Given the description of an element on the screen output the (x, y) to click on. 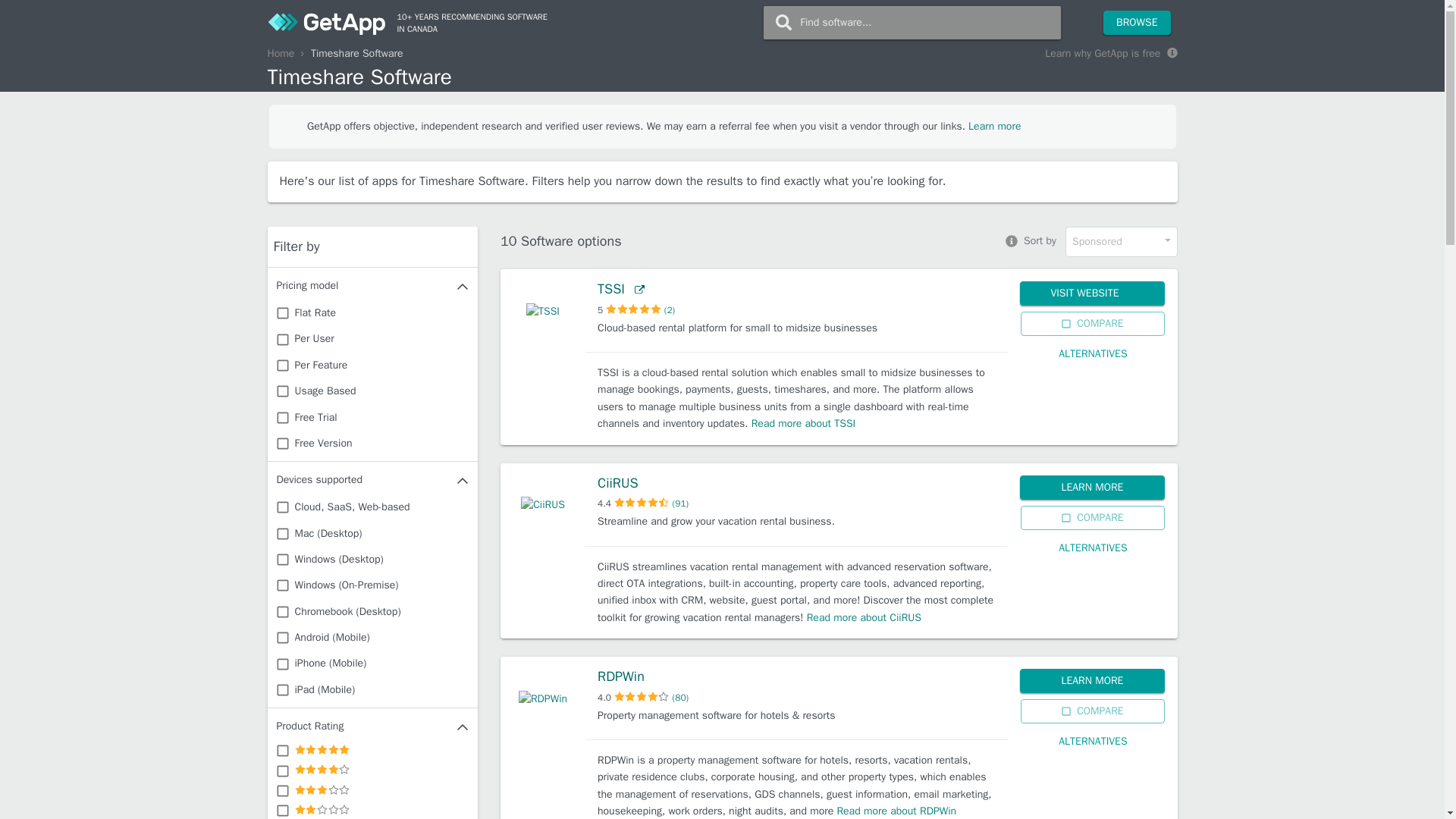
Learn why GetApp is free (1110, 54)
BROWSE (1136, 22)
Learn more (994, 125)
GetApp (326, 22)
Cloud, SaaS, Web-based (372, 506)
Usage Based (372, 391)
Free Version (372, 443)
Per Feature (372, 365)
Flat Rate (372, 312)
Per User (372, 338)
Home (280, 52)
Free Trial (372, 417)
Timeshare Software (721, 77)
